Given the description of an element on the screen output the (x, y) to click on. 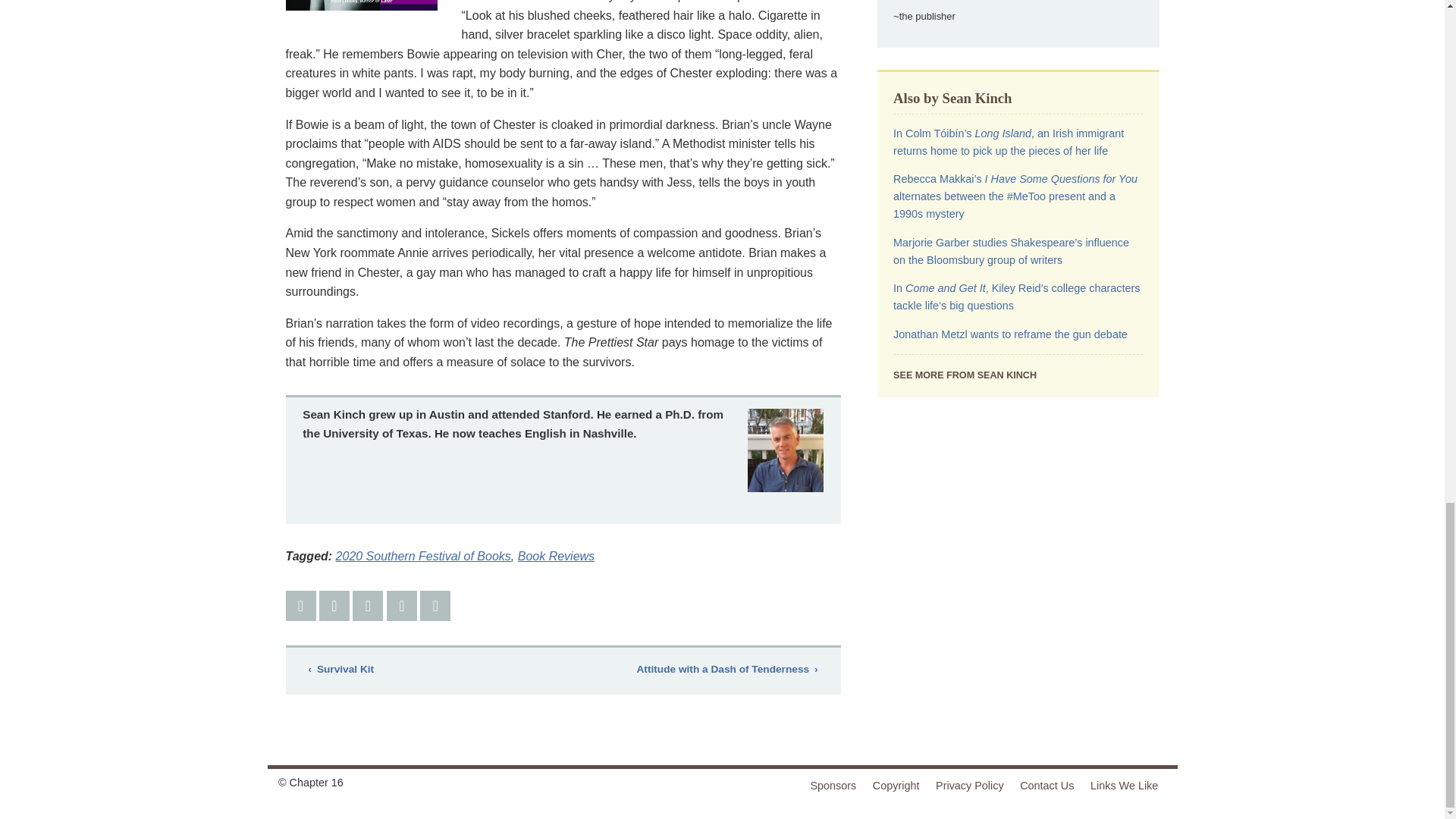
2020 Southern Festival of Books (423, 555)
Tweet (333, 605)
Survival Kit (340, 669)
Attitude with a Dash of Tenderness (727, 669)
Print (434, 605)
Email (401, 605)
Book Reviews (556, 555)
Share on Facebook (300, 605)
